Given the description of an element on the screen output the (x, y) to click on. 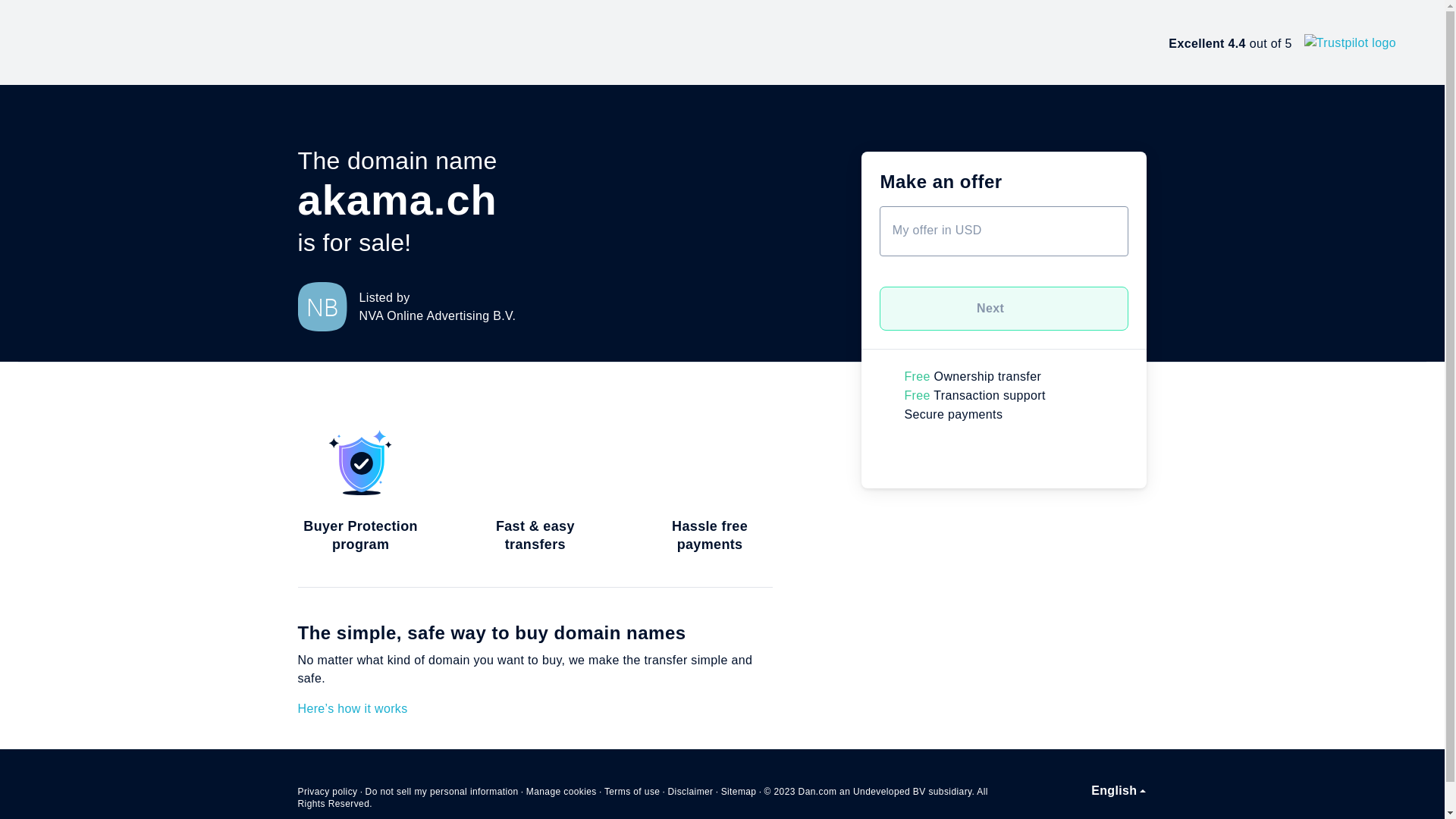
Terms of use Element type: text (632, 791)
English Element type: text (1118, 790)
Next
) Element type: text (1003, 308)
Do not sell my personal information Element type: text (441, 791)
Sitemap Element type: text (738, 791)
Excellent 4.4 out of 5 Element type: text (1282, 42)
Privacy policy Element type: text (327, 791)
Disclaimer Element type: text (689, 791)
Manage cookies Element type: text (561, 791)
